Given the description of an element on the screen output the (x, y) to click on. 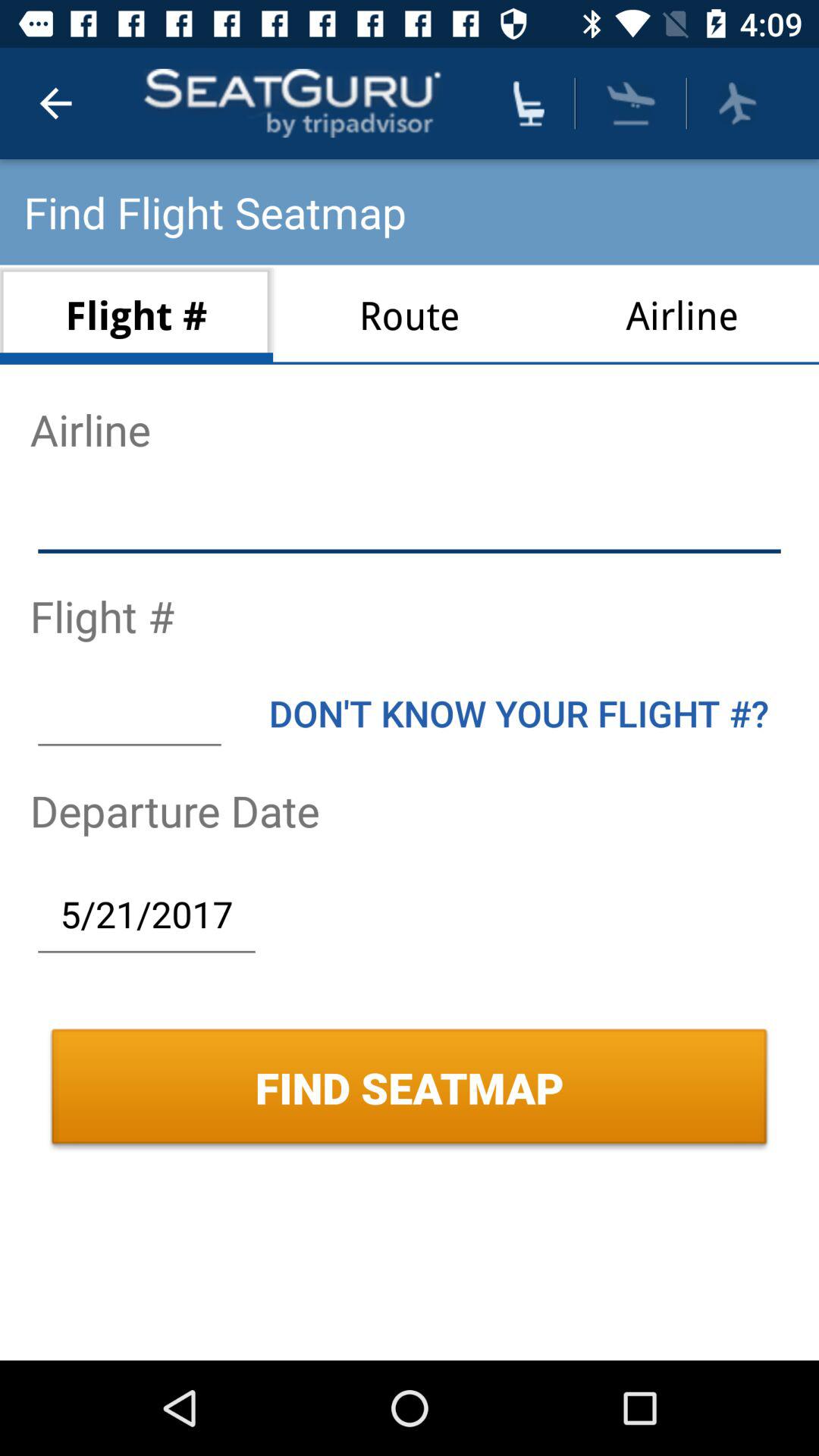
turn on item above the airline (630, 103)
